Given the description of an element on the screen output the (x, y) to click on. 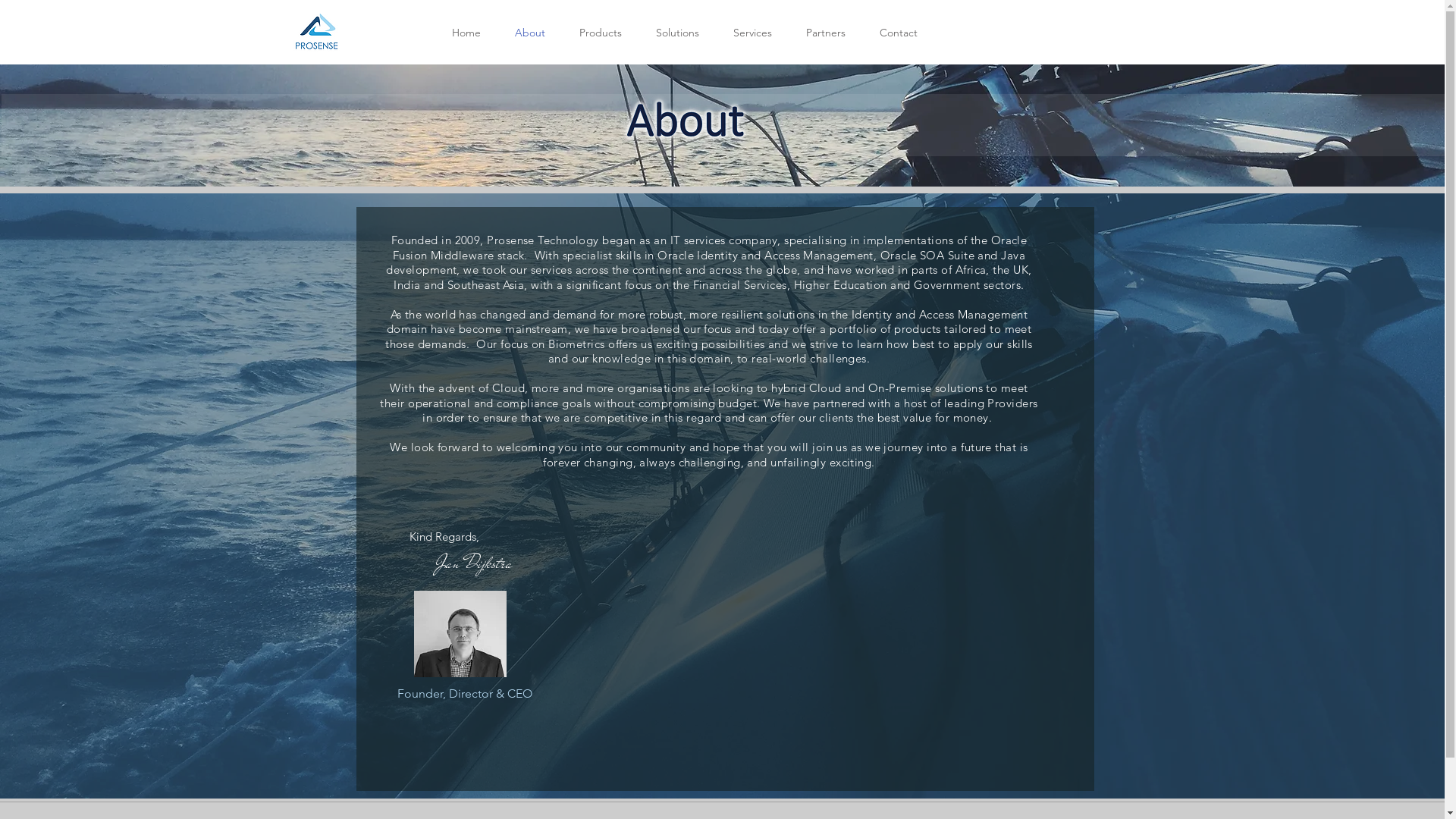
Products Element type: text (600, 32)
Home Element type: text (465, 32)
Contact Element type: text (898, 32)
ProsenseLogo.png Element type: hover (317, 32)
Solutions Element type: text (676, 32)
Services Element type: text (751, 32)
About Element type: text (529, 32)
Partners Element type: text (825, 32)
